Given the description of an element on the screen output the (x, y) to click on. 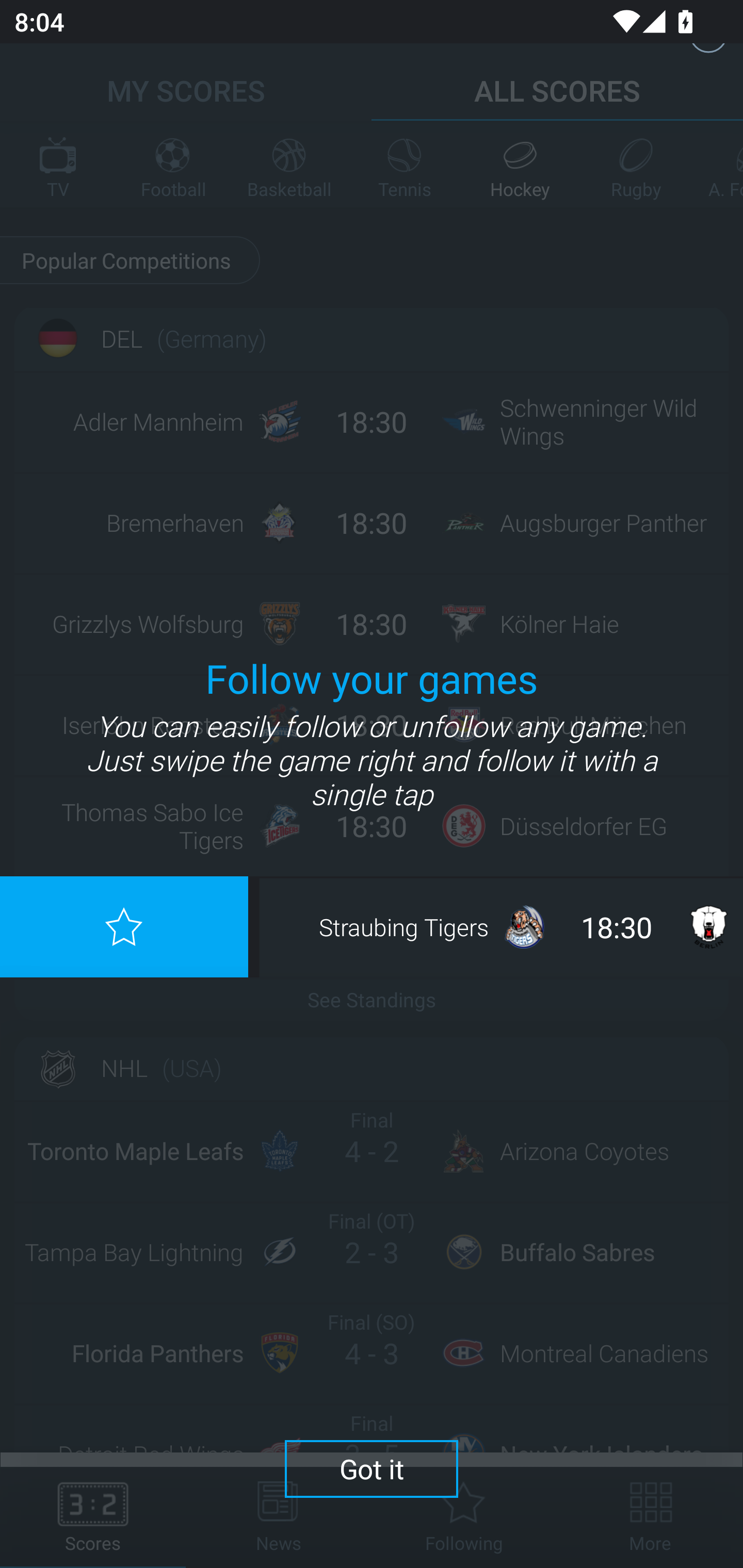
Straubing Tigers 18:30 Eisbären Berlin (502, 926)
Got it (371, 1468)
